Given the description of an element on the screen output the (x, y) to click on. 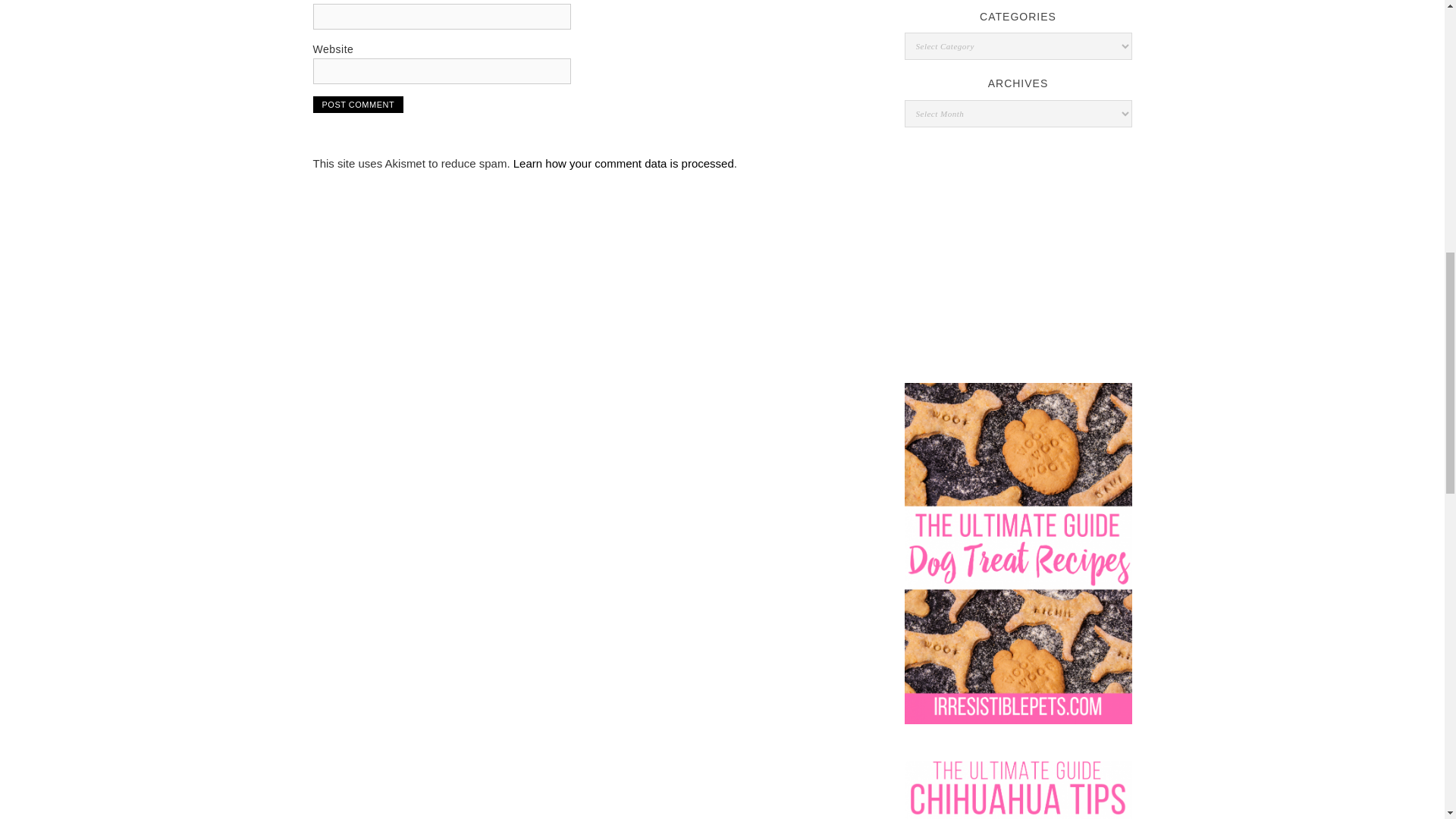
Post Comment (358, 104)
Learn how your comment data is processed (623, 163)
Post Comment (358, 104)
